Given the description of an element on the screen output the (x, y) to click on. 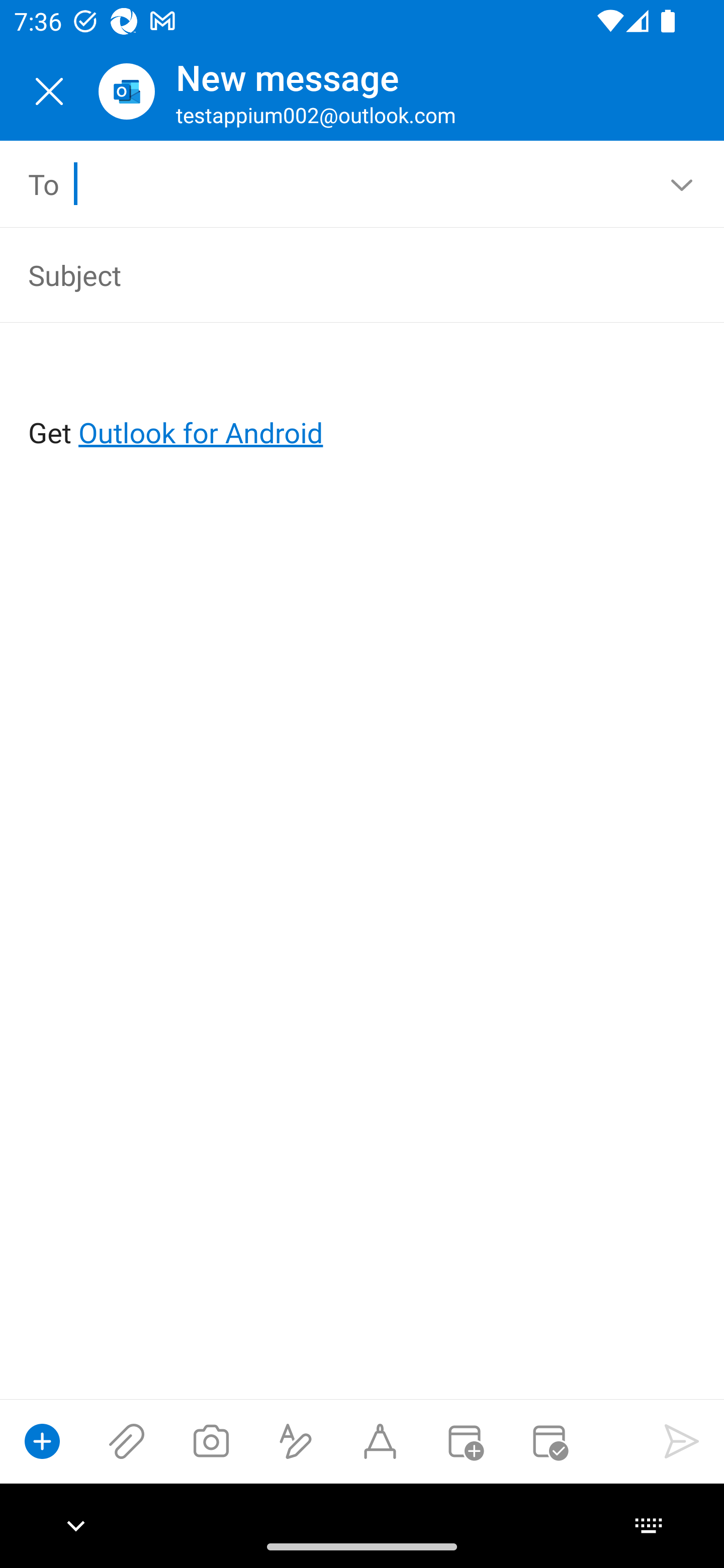
Close (49, 91)
Subject (333, 274)
Show compose options (42, 1440)
Attach files (126, 1440)
Take a photo (210, 1440)
Show formatting options (295, 1440)
Start Ink compose (380, 1440)
Convert to event (464, 1440)
Send availability (548, 1440)
Send (681, 1440)
